Given the description of an element on the screen output the (x, y) to click on. 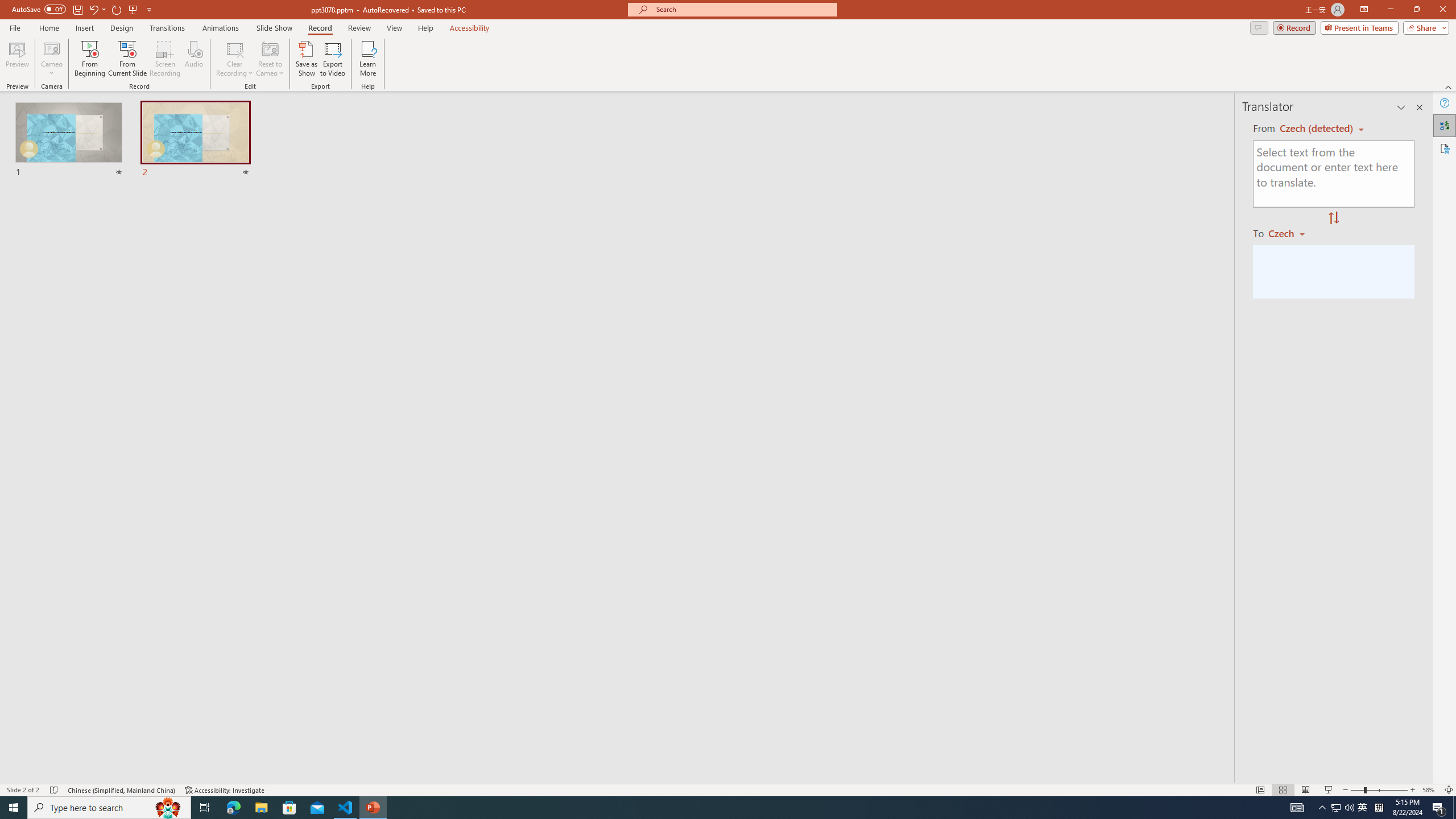
Czech (detected) (1317, 128)
Save as Show (306, 58)
Zoom 58% (1430, 790)
